Given the description of an element on the screen output the (x, y) to click on. 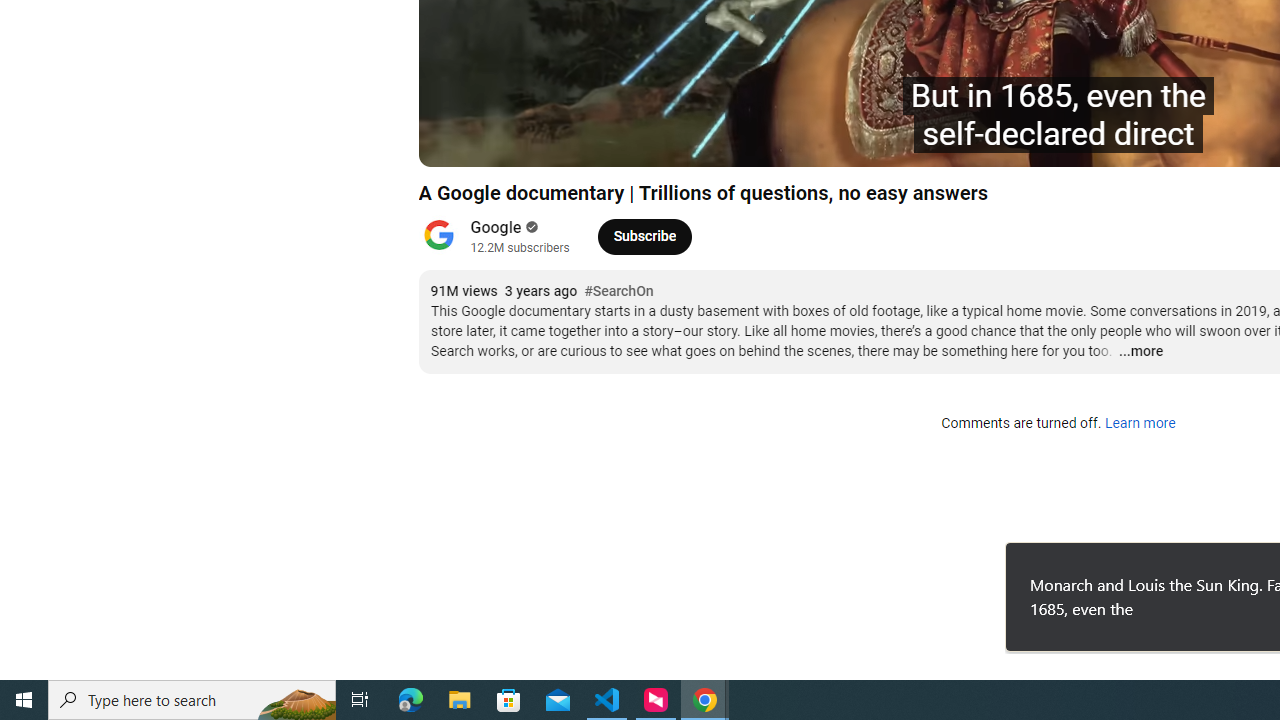
Next (SHIFT+n) (500, 142)
...more (1140, 352)
#SearchOn (618, 291)
Mute (m) (548, 142)
Verified (530, 227)
Pause (k) (453, 142)
Subscribe to Google. (644, 236)
Google (496, 227)
Learn more (1139, 423)
